Given the description of an element on the screen output the (x, y) to click on. 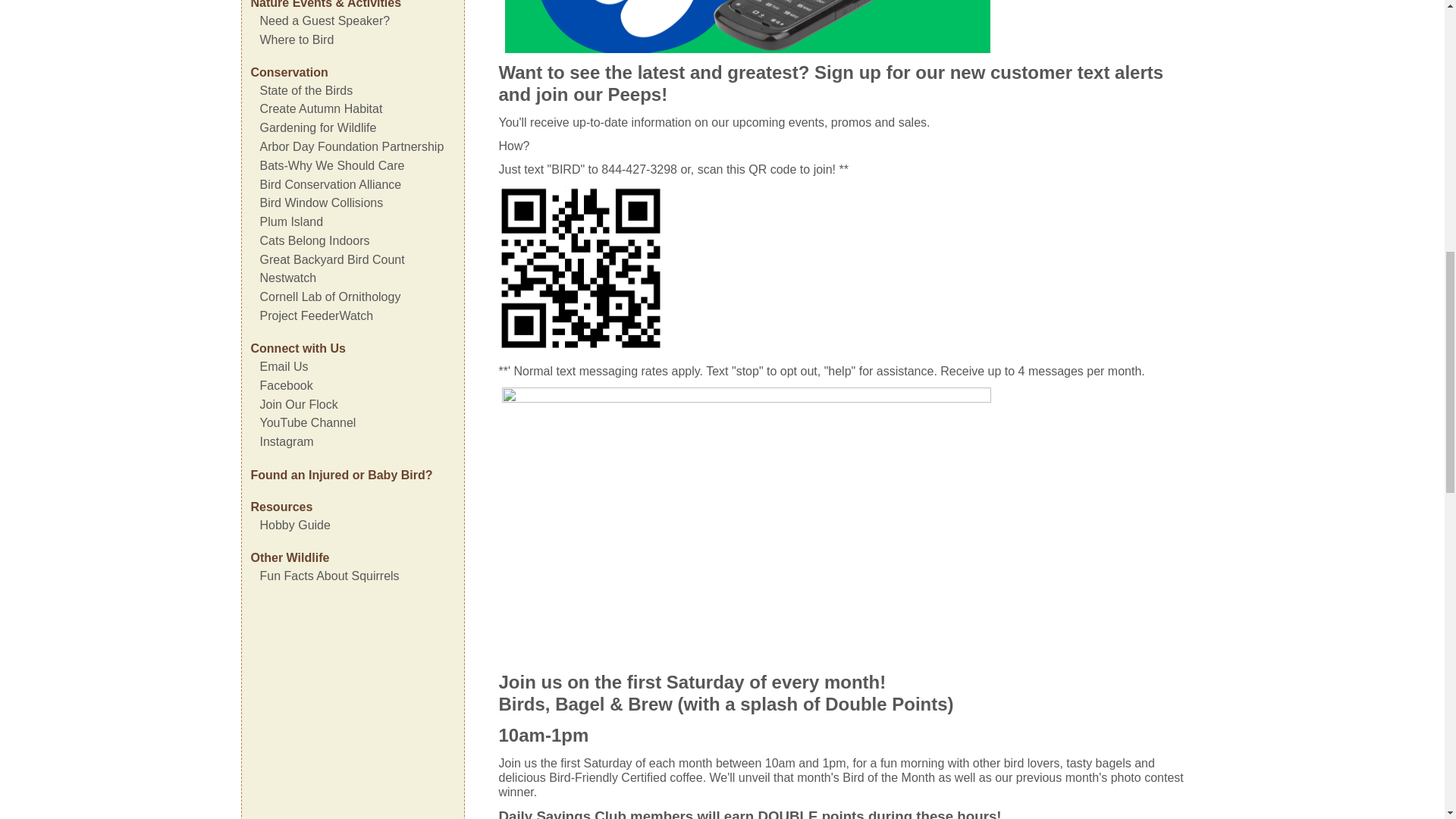
Need a Guest Speaker? (324, 20)
Where to Bird (296, 39)
State of the Birds (305, 90)
Gardening for Wildlife (317, 127)
Create Autumn Habitat (320, 108)
